Given the description of an element on the screen output the (x, y) to click on. 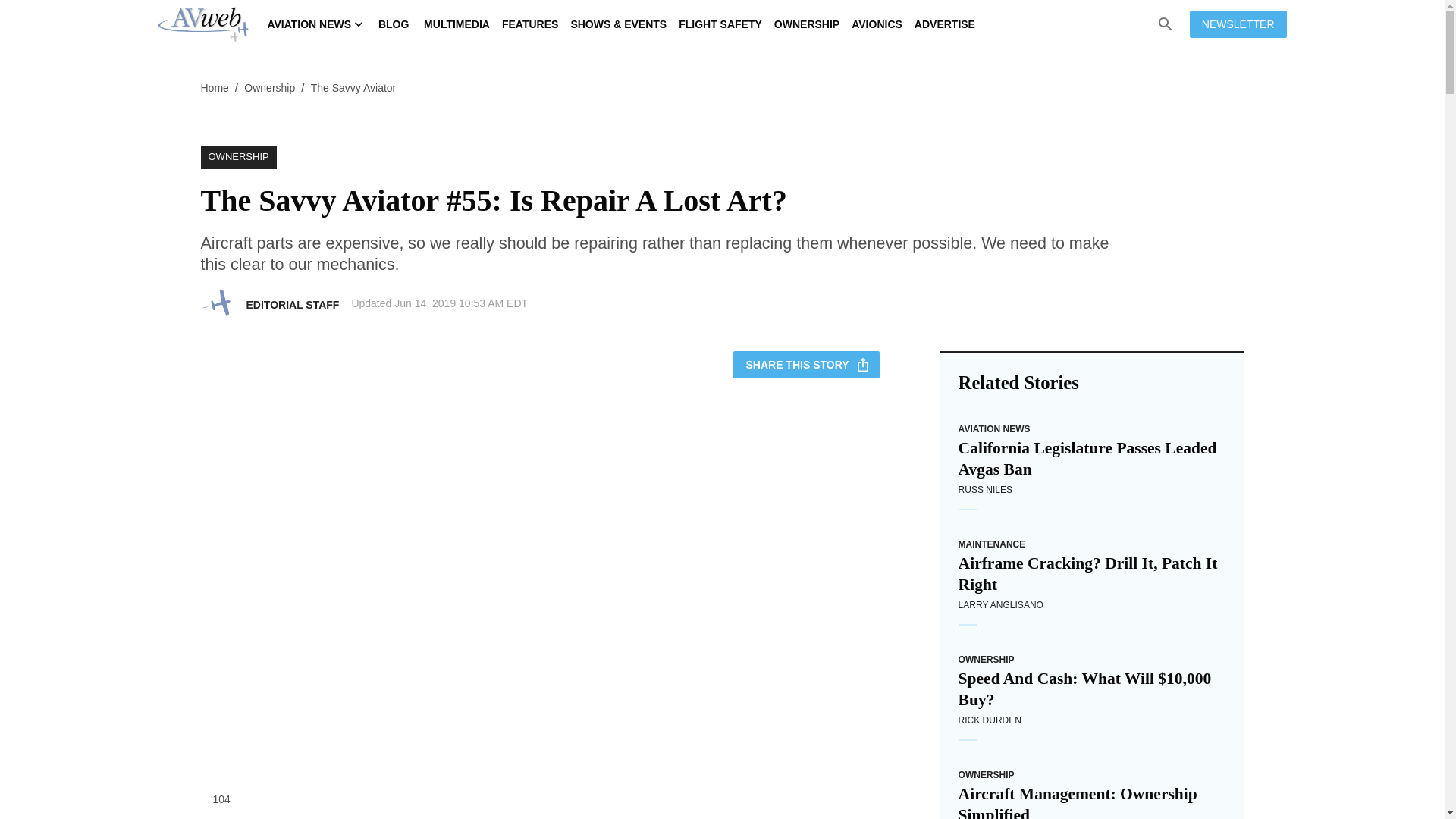
SHARE THIS STORY (806, 365)
AVIONICS (876, 24)
NEWSLETTER (1238, 24)
AVIATION NEWS (314, 24)
AVIATION NEWS (994, 429)
FEATURES (530, 24)
BLOG (393, 24)
The Savvy Aviator (353, 87)
EDITORIAL STAFF (292, 304)
MAINTENANCE (992, 543)
